Given the description of an element on the screen output the (x, y) to click on. 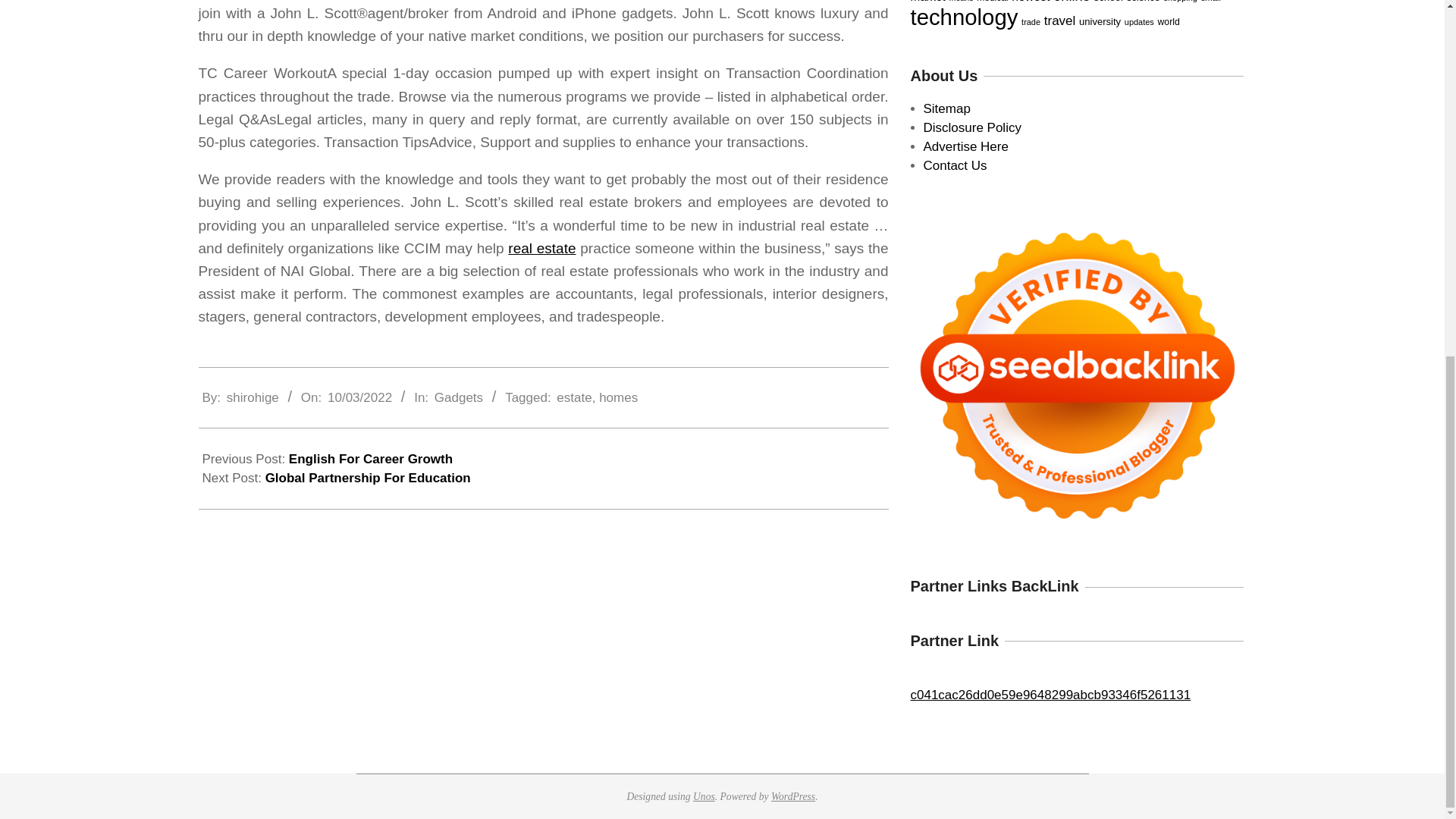
real estate (541, 248)
estate (573, 397)
Unos WordPress Theme (703, 796)
shirohige (253, 397)
Global Partnership For Education (367, 477)
Posts by shirohige (253, 397)
homes (617, 397)
Thursday, March 10, 2022, 5:37 am (359, 397)
Seedbacklink (1076, 375)
Gadgets (458, 397)
